Given the description of an element on the screen output the (x, y) to click on. 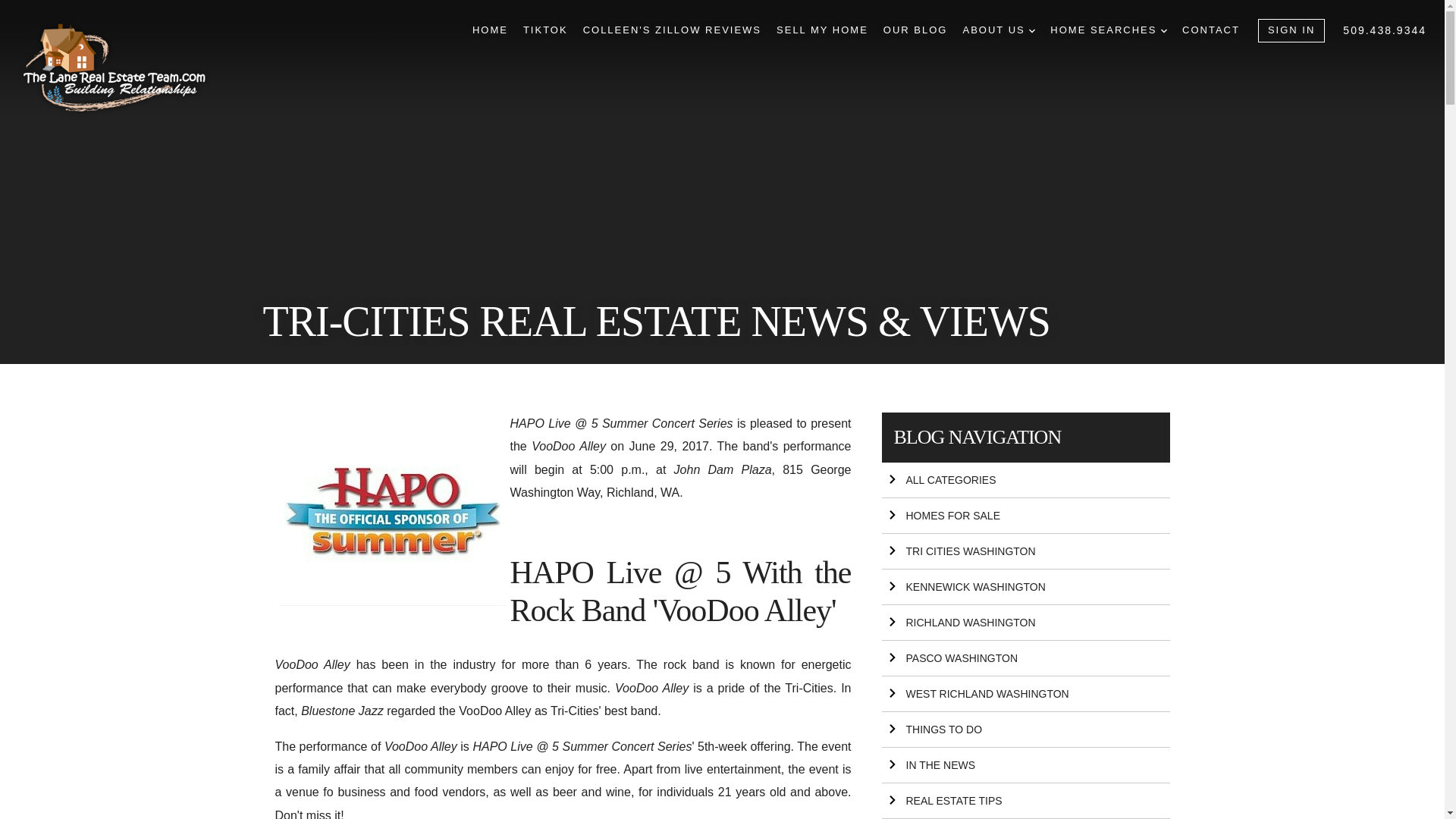
DROPDOWN ARROW (1032, 30)
OUR BLOG (915, 30)
SELL MY HOME (821, 30)
CONTACT (1211, 30)
COLLEEN'S ZILLOW REVIEWS (672, 30)
DROPDOWN ARROW (1163, 30)
ABOUT US DROPDOWN ARROW (998, 30)
TIKTOK (544, 30)
HOME (489, 30)
HOME SEARCHES DROPDOWN ARROW (1108, 30)
